Given the description of an element on the screen output the (x, y) to click on. 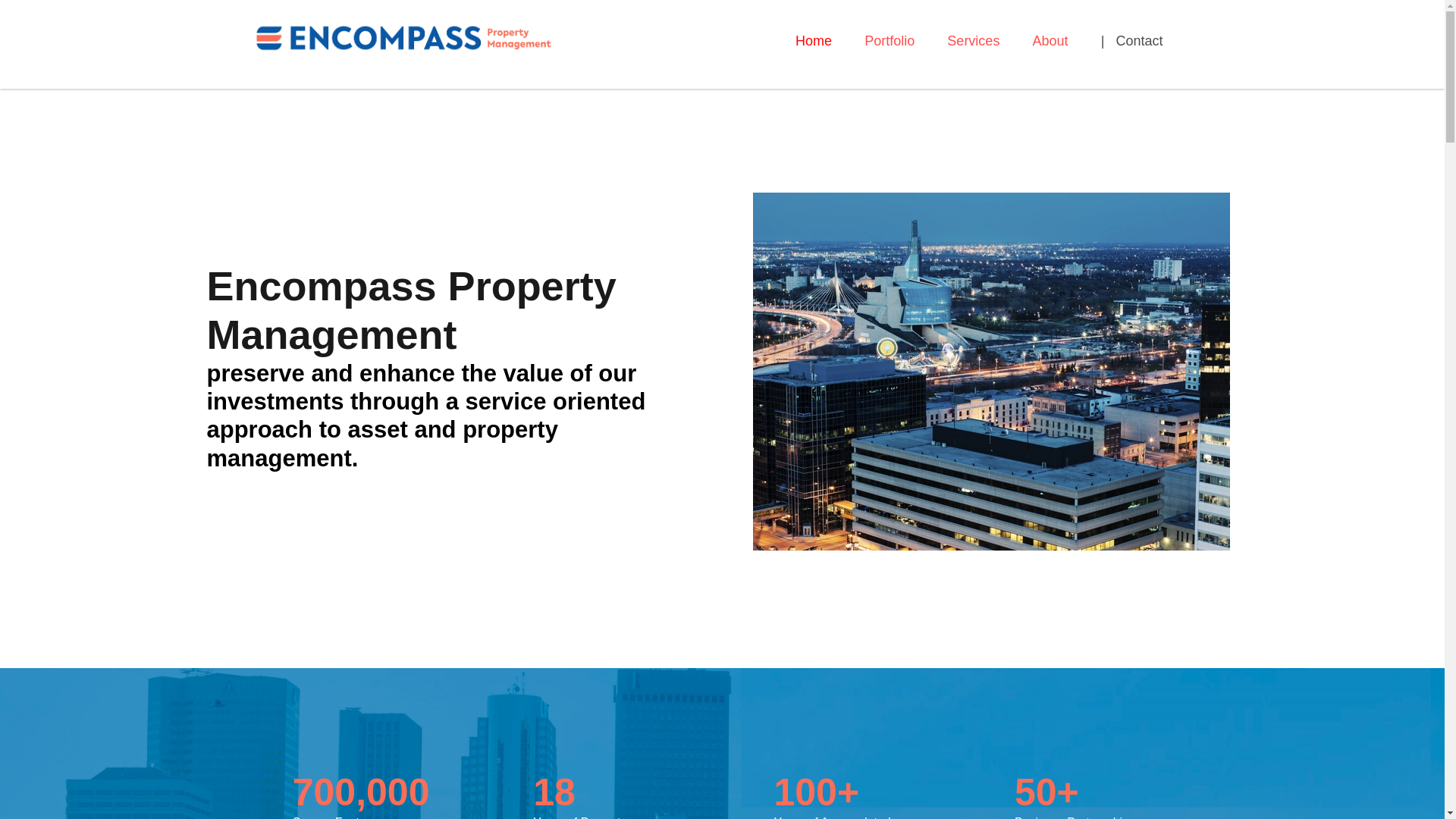
About (1050, 41)
Encompass Properties (402, 36)
Portfolio (889, 41)
Home (812, 41)
Services (972, 41)
